Given the description of an element on the screen output the (x, y) to click on. 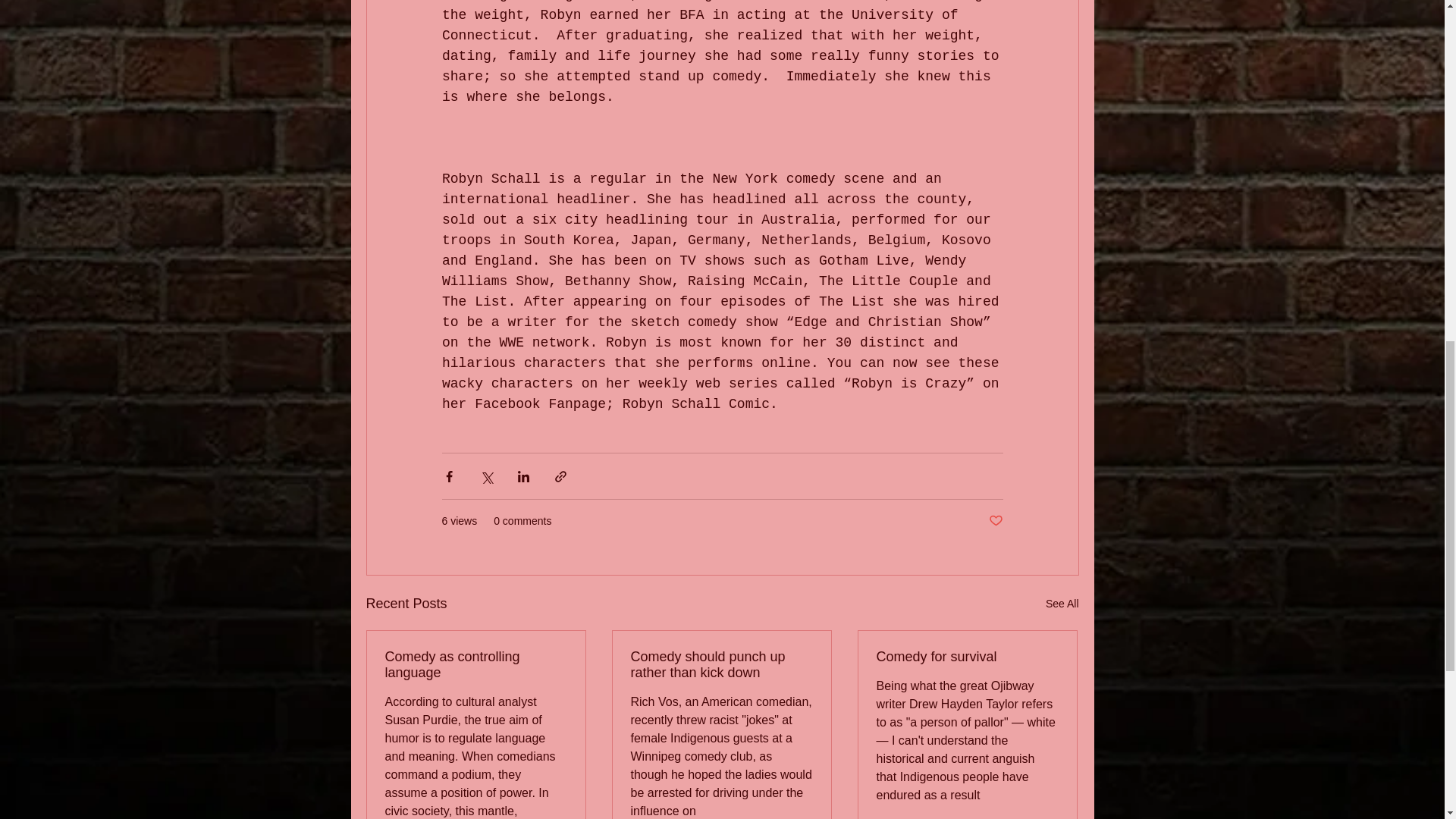
Comedy for survival (967, 657)
See All (1061, 603)
Post not marked as liked (995, 521)
Comedy should punch up rather than kick down (721, 664)
Comedy as controlling language (476, 664)
